Given the description of an element on the screen output the (x, y) to click on. 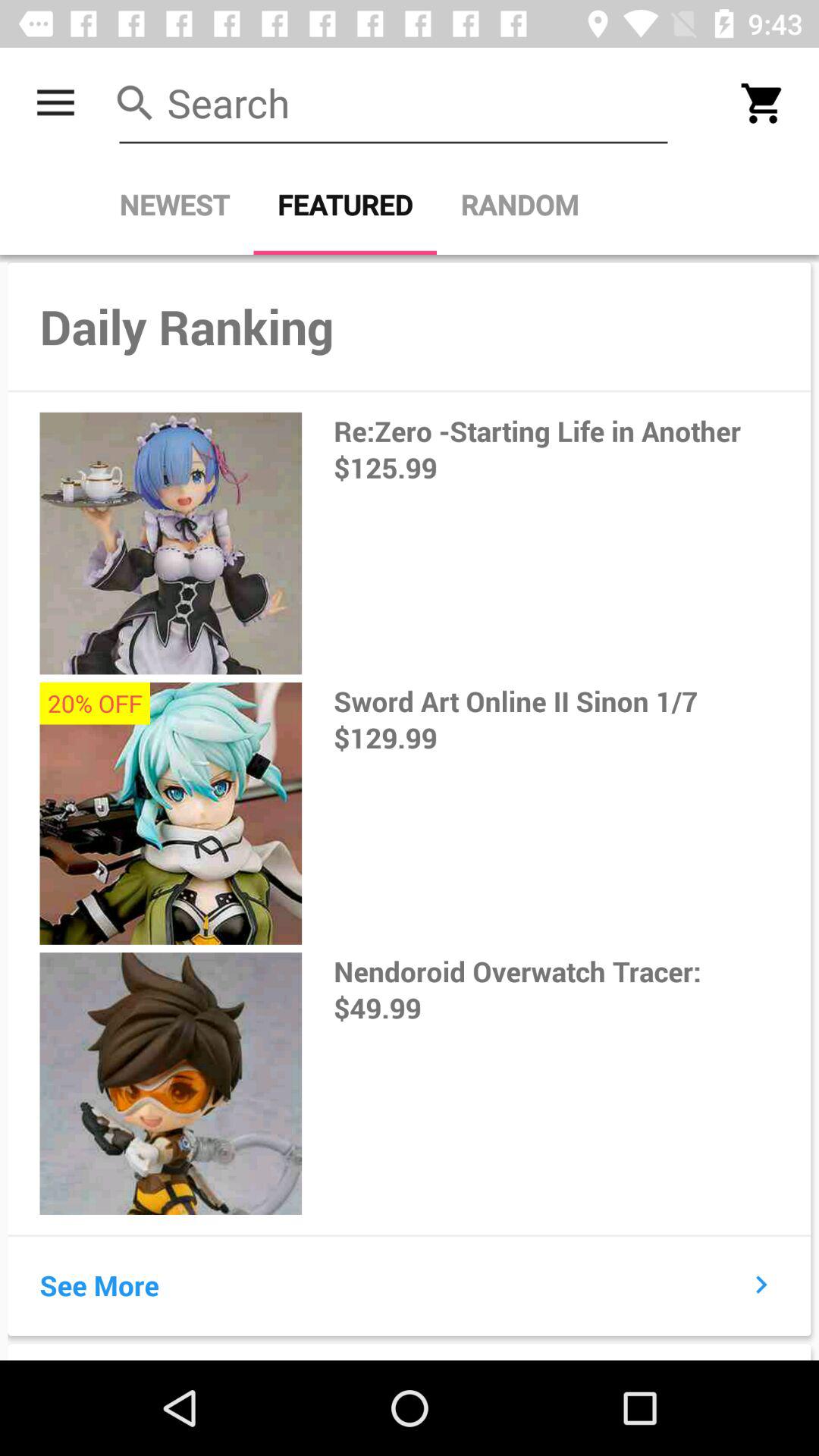
search (393, 103)
